Given the description of an element on the screen output the (x, y) to click on. 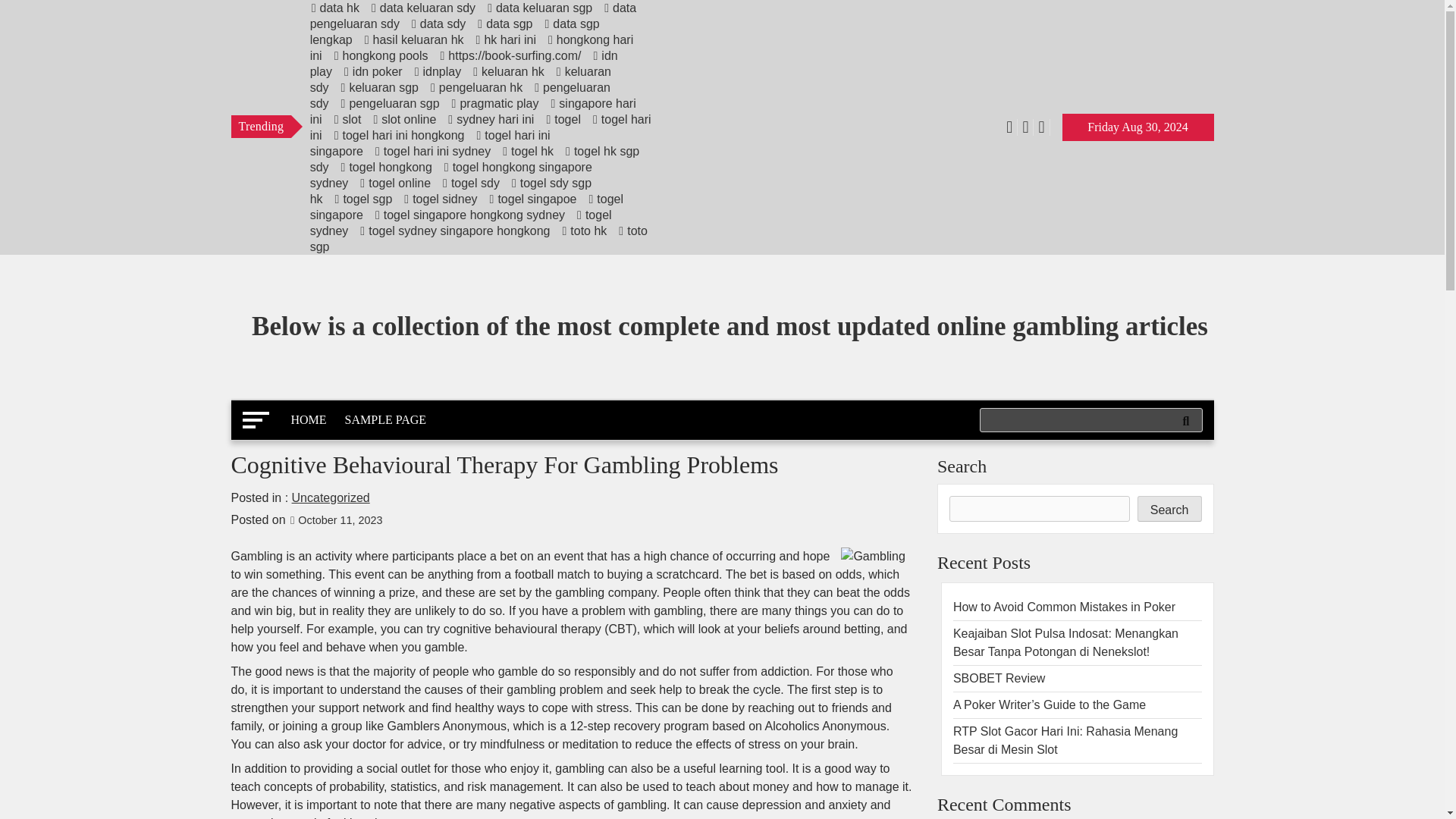
togel hongkong singapore sydney (451, 174)
togel hari ini hongkong (398, 134)
hongkong pools (380, 55)
togel hari ini (480, 127)
togel sdy sgp hk (450, 190)
data keluaran sgp (539, 7)
data keluaran sdy (422, 7)
idnplay (437, 71)
togel hari ini singapore (430, 143)
togel sdy (470, 182)
